Given the description of an element on the screen output the (x, y) to click on. 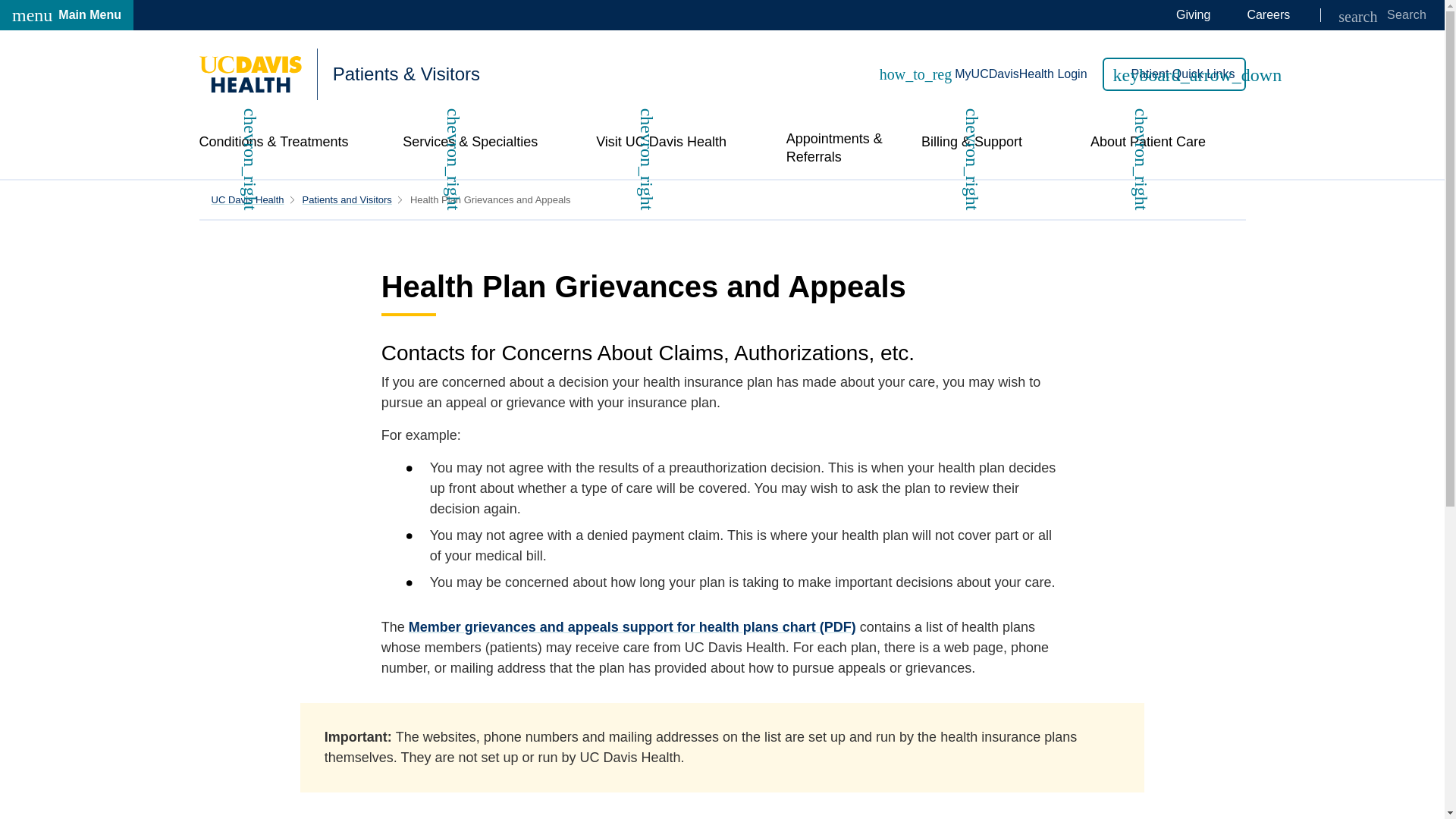
Careers (1267, 15)
Patient Quick Links (1174, 73)
search Search (1382, 14)
Patients and Visitors (66, 15)
UC Davis Health (346, 199)
Giving (247, 199)
